Given the description of an element on the screen output the (x, y) to click on. 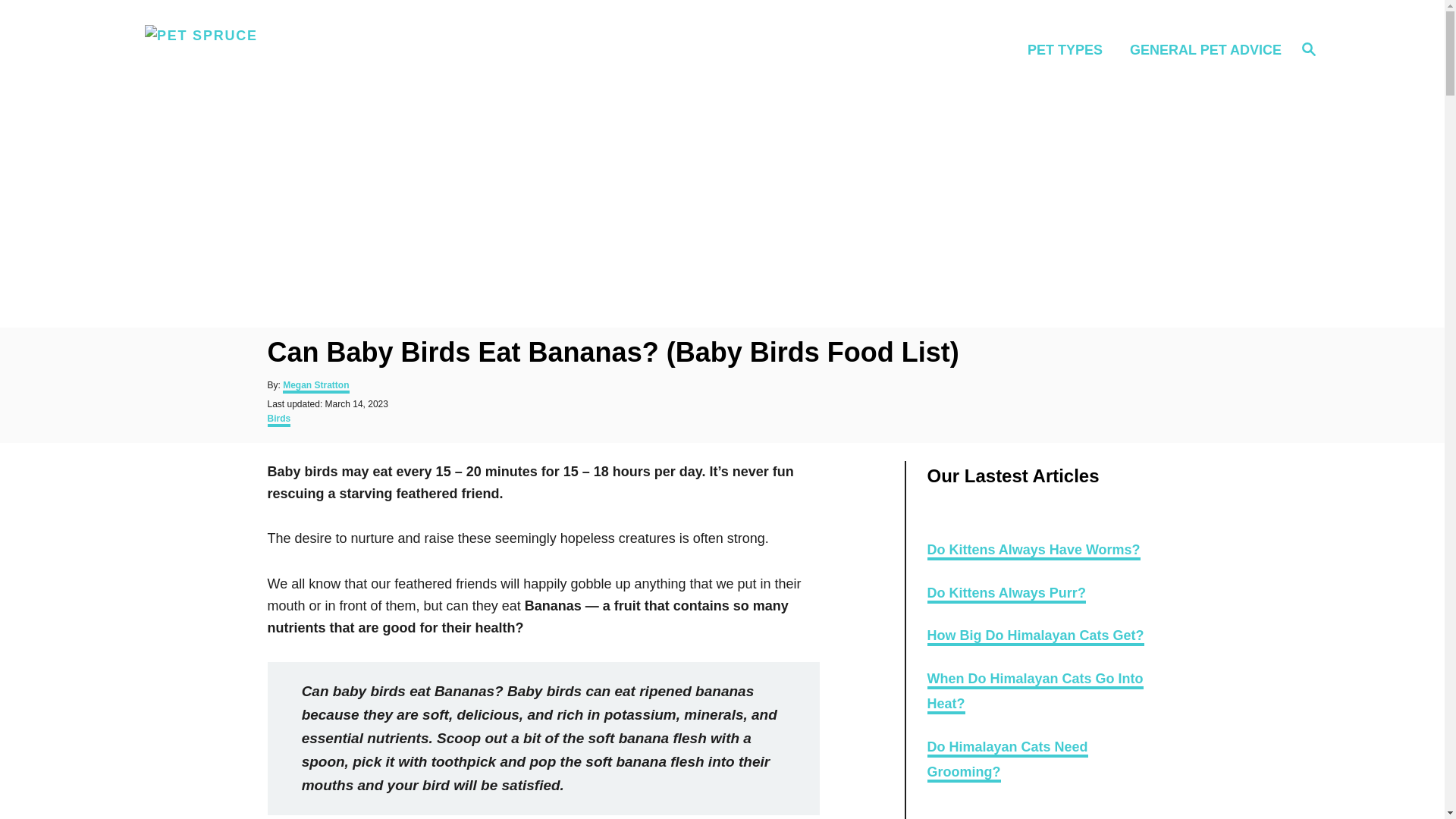
Pet Spruce (285, 50)
Do Kittens Always Have Worms? (1033, 551)
Megan Stratton (315, 386)
When Do Himalayan Cats Go Into Heat? (1034, 692)
GENERAL PET ADVICE (1308, 49)
PET TYPES (1201, 49)
How Big Do Himalayan Cats Get? (1069, 49)
Do Himalayan Cats Need Grooming? (1034, 637)
Advertisement (1006, 760)
Do Kittens Always Purr? (277, 419)
Magnifying Glass (1005, 594)
